Given the description of an element on the screen output the (x, y) to click on. 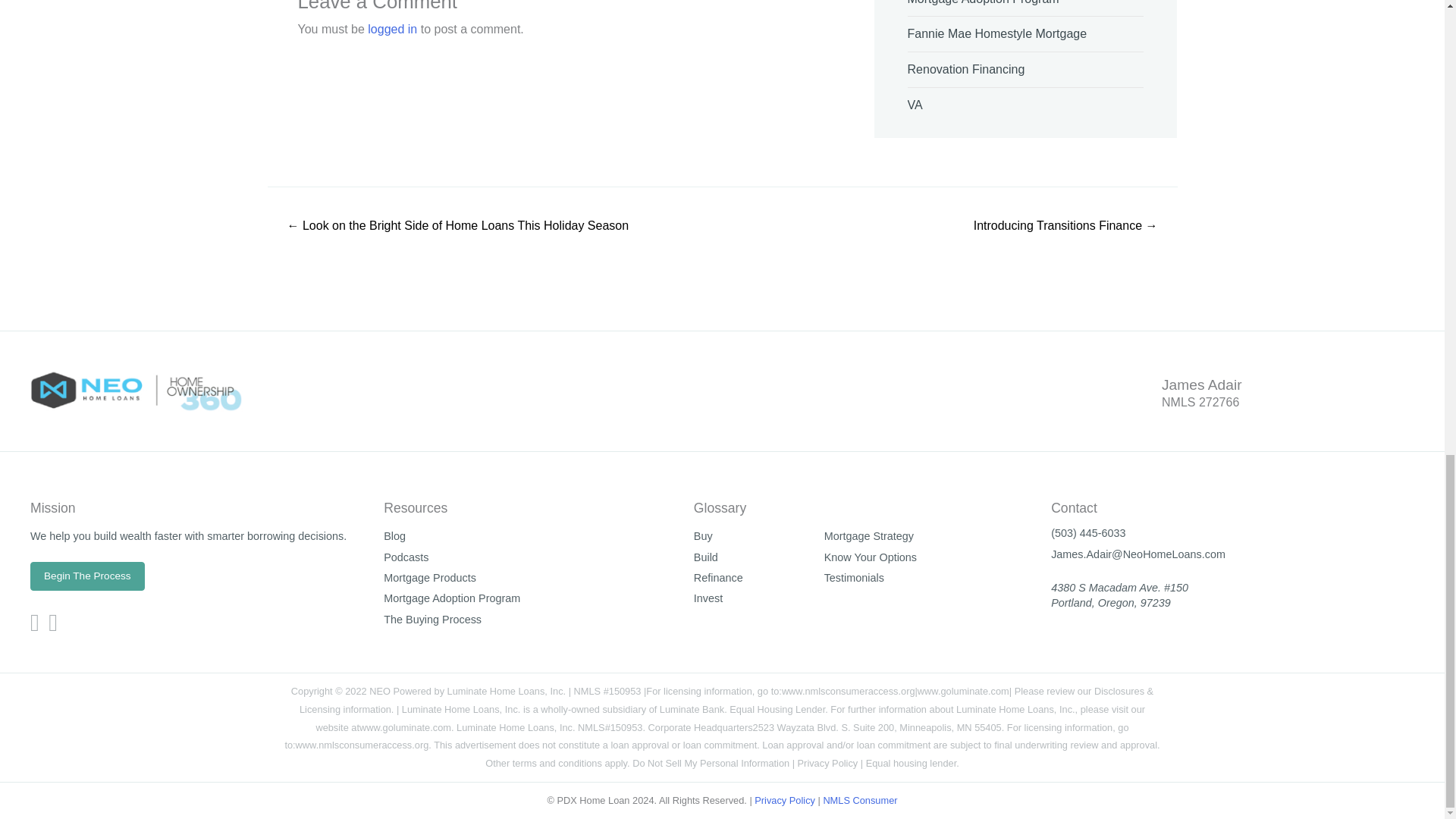
logged in (392, 29)
